Given the description of an element on the screen output the (x, y) to click on. 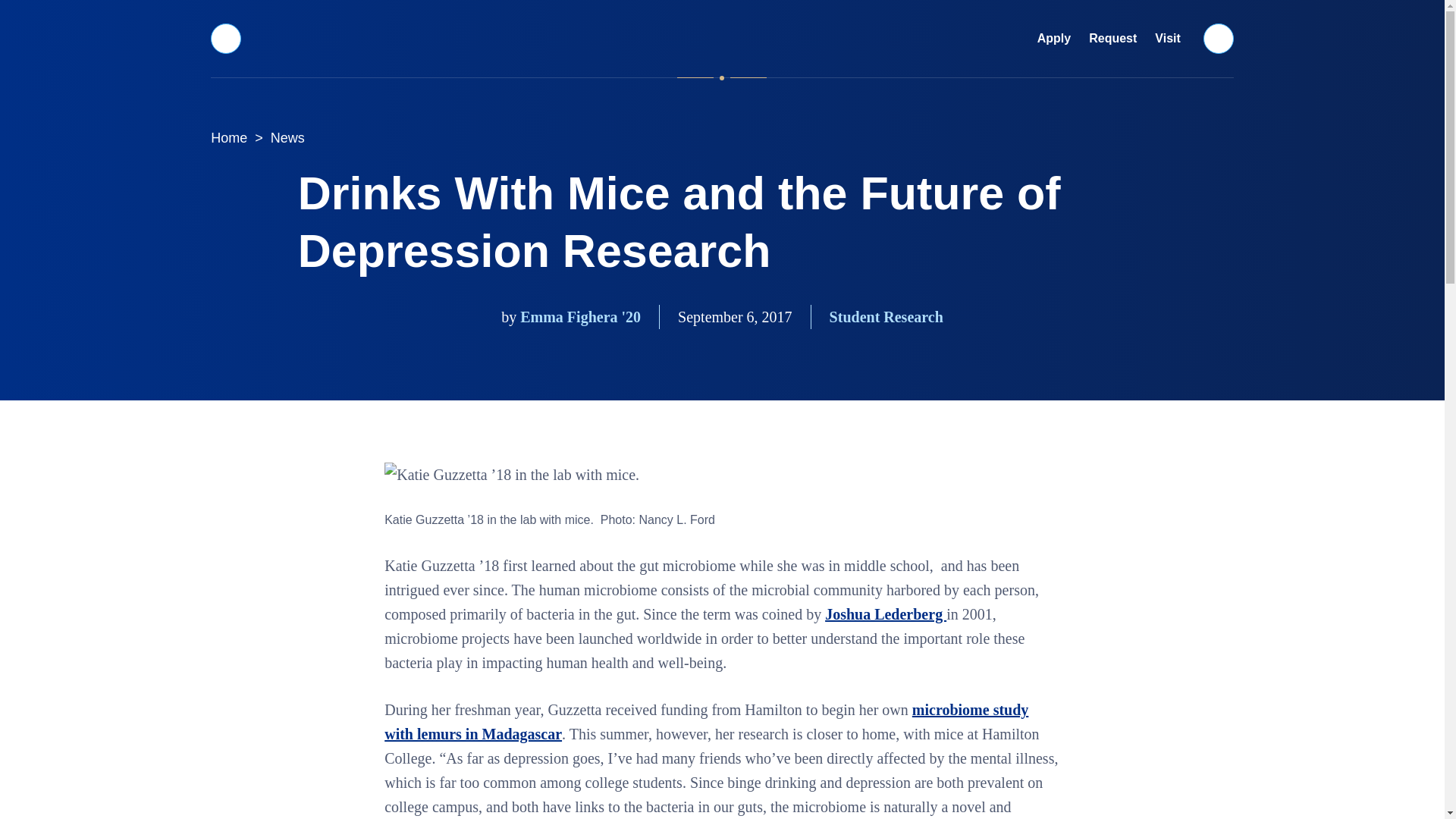
Request (1112, 38)
Joshua Lederberg (885, 614)
Home (228, 138)
microbiome study with lemurs in Madagascar (705, 721)
Student Research (886, 316)
Search (1218, 38)
Menu (225, 38)
Emma Fighera '20 (579, 316)
Hamilton (721, 38)
Visit (1167, 38)
News (288, 138)
Apply (1053, 38)
